Given the description of an element on the screen output the (x, y) to click on. 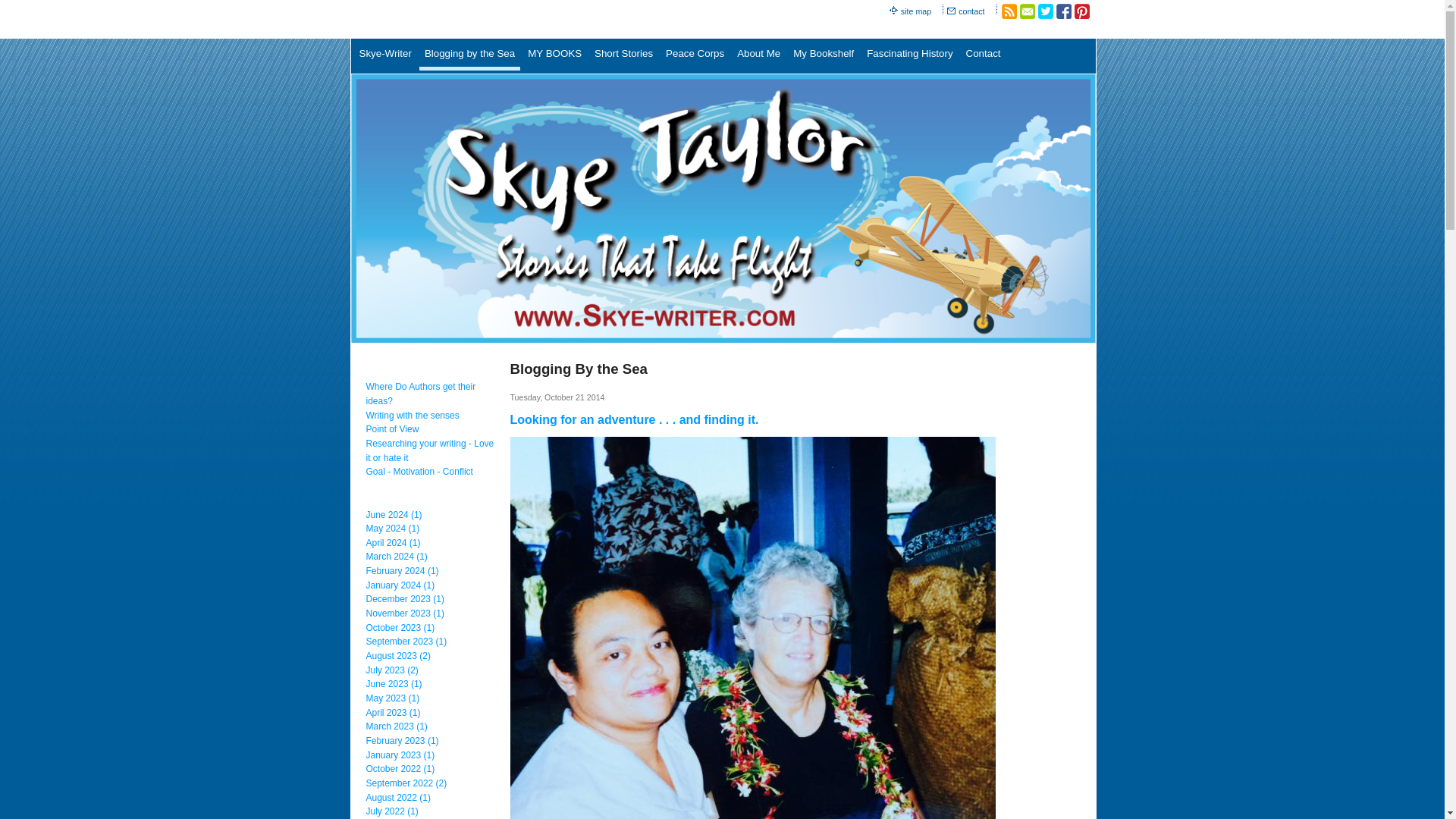
Skye-Writer (384, 55)
Fascinating History (909, 55)
Writing with the senses (411, 415)
Point of View (392, 429)
Peace Corps (695, 55)
Contact (983, 55)
Goal - Motivation - Conflict (418, 471)
Blogging by the Sea (469, 55)
Short Stories (623, 55)
About Me (759, 55)
My Bookshelf (823, 55)
site map (917, 11)
MY BOOKS (554, 55)
contact (971, 11)
Researching your writing - Love it or hate it (429, 450)
